Given the description of an element on the screen output the (x, y) to click on. 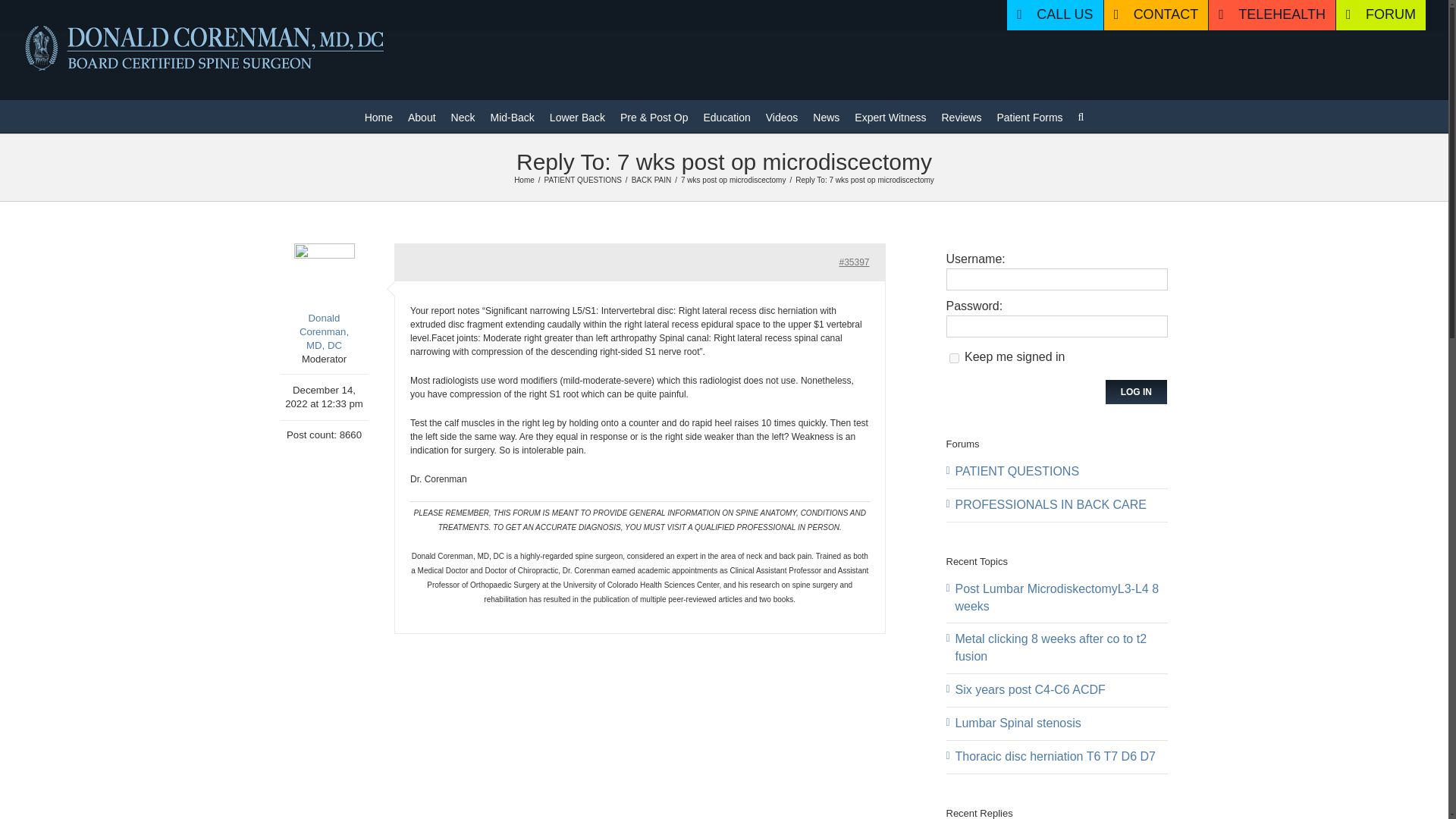
Lower Back (577, 115)
CONTACT (1155, 15)
Videos (781, 115)
Education (727, 115)
TELEHEALTH (1271, 15)
Patient Forms (1028, 115)
CALL US (1054, 15)
Reviews (961, 115)
Mid-Back (511, 115)
Expert Witness (890, 115)
FORUM (1380, 15)
